Given the description of an element on the screen output the (x, y) to click on. 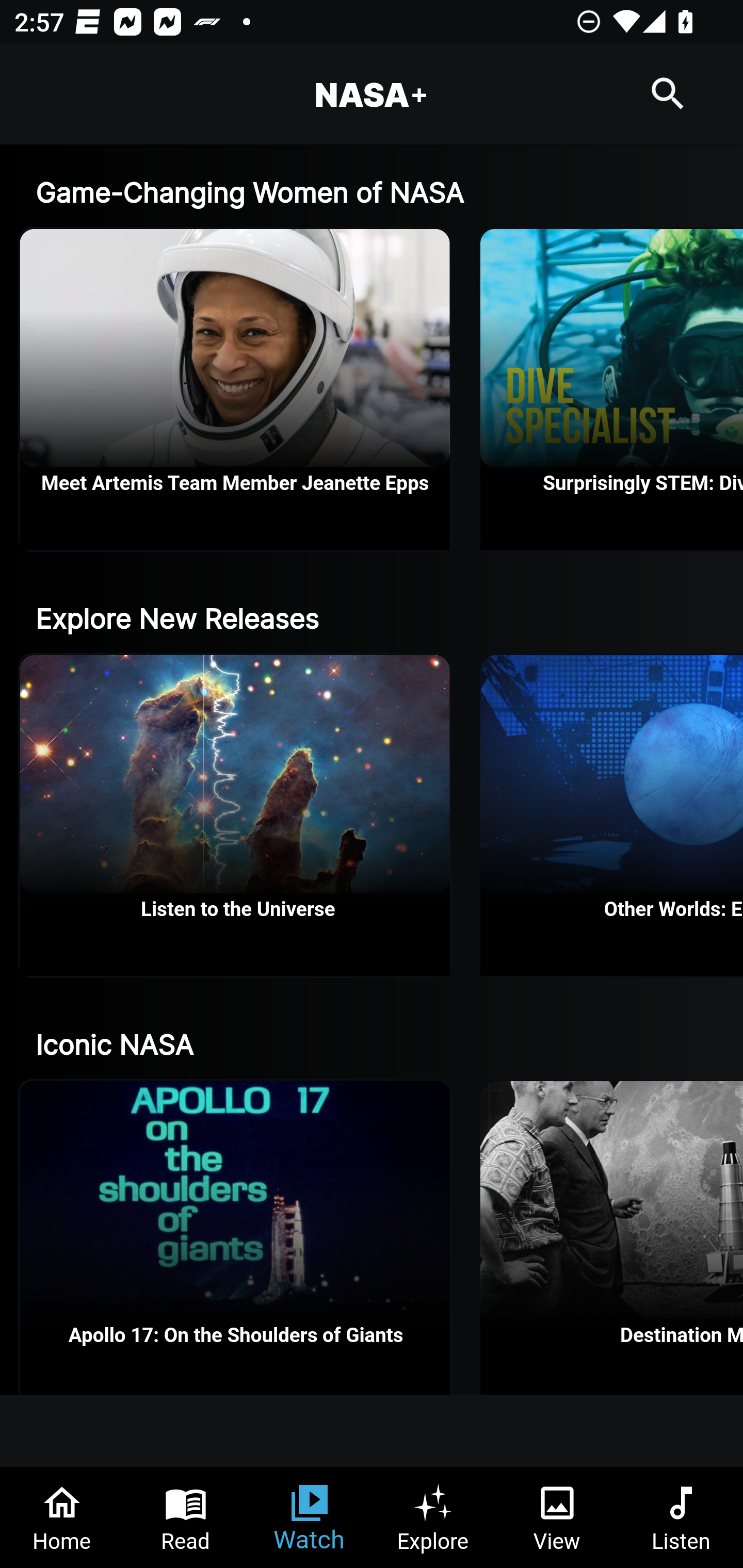
Meet Artemis Team Member Jeanette Epps (235, 389)
Surprisingly STEM: Dive Specialist (611, 389)
Listen to the Universe (235, 815)
Other Worlds: Europa (611, 815)
Apollo 17: On the Shoulders of Giants (235, 1236)
Destination Moon (611, 1236)
Home
Tab 1 of 6 (62, 1517)
Read
Tab 2 of 6 (185, 1517)
Watch
Tab 3 of 6 (309, 1517)
Explore
Tab 4 of 6 (433, 1517)
View
Tab 5 of 6 (556, 1517)
Listen
Tab 6 of 6 (680, 1517)
